Given the description of an element on the screen output the (x, y) to click on. 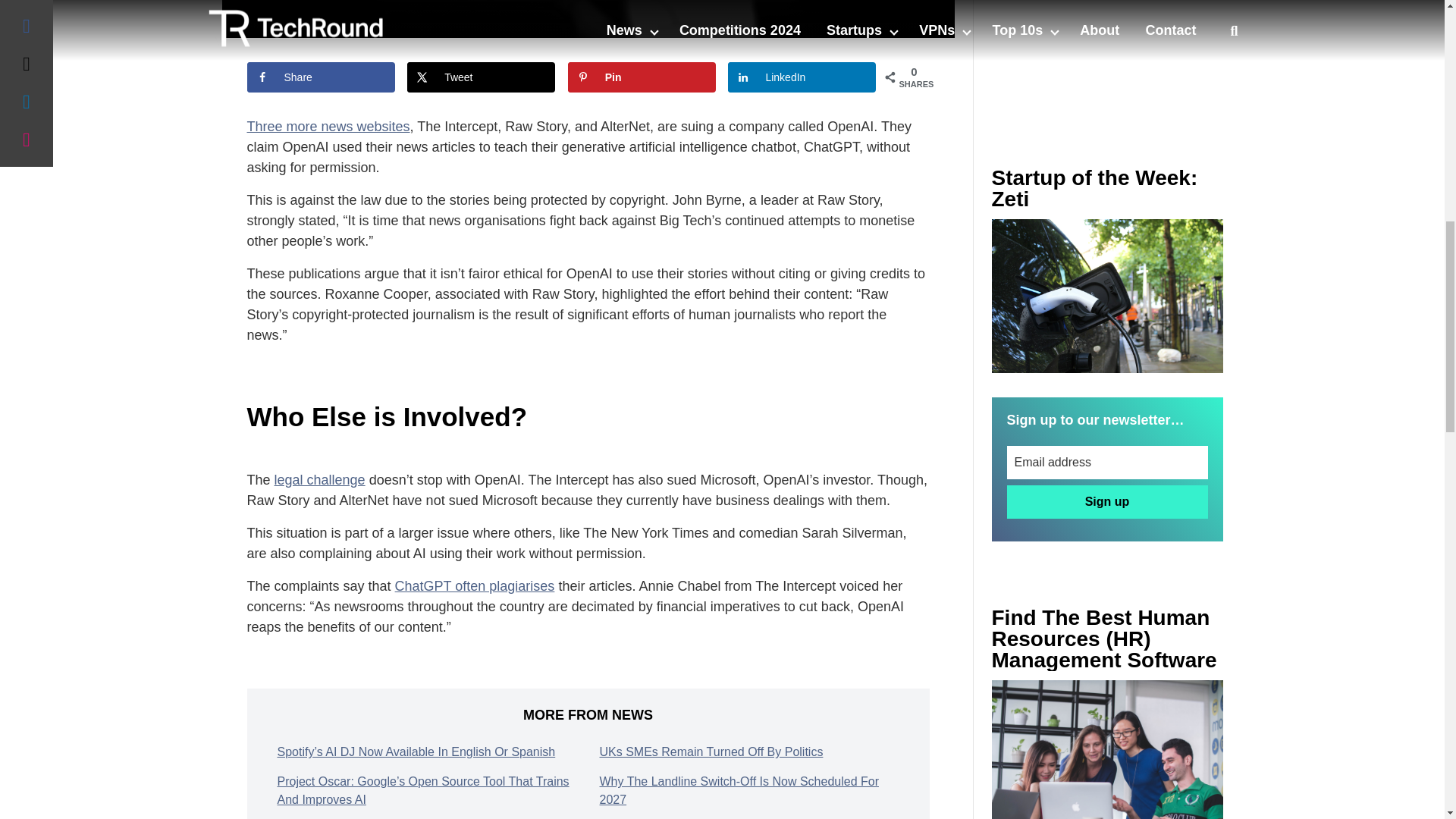
Enter The BAME Top 50 Entrepreneurs - Deadline 10th Nov 2021 (1107, 749)
Save to Pinterest (641, 77)
Advertisement (1107, 53)
Share on X (480, 77)
Startup of the Week: Neon Link (1107, 296)
Sign up (1107, 501)
Share on Facebook (320, 77)
Share on LinkedIn (802, 77)
